Given the description of an element on the screen output the (x, y) to click on. 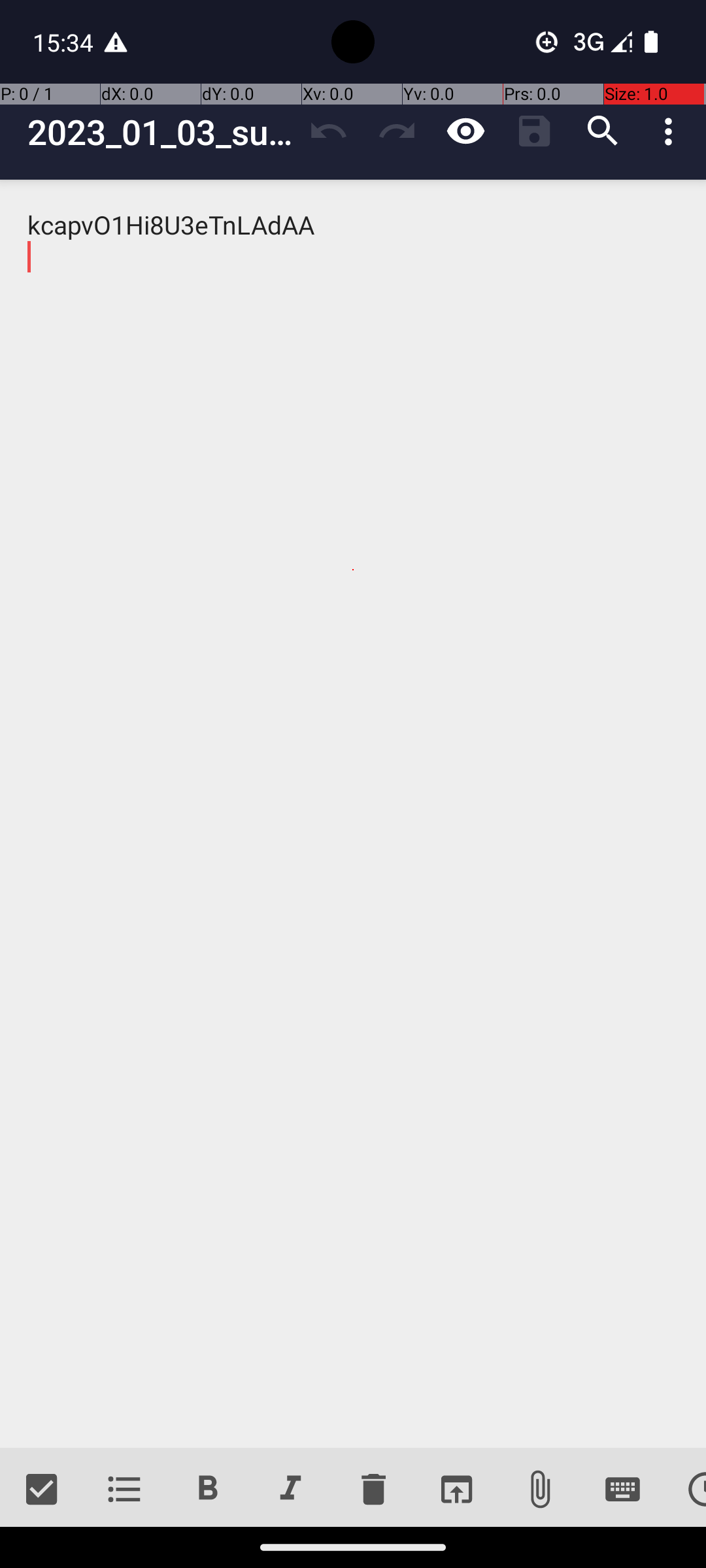
2023_01_03_summer_vacation_plans Element type: android.widget.TextView (160, 131)
kcapvO1Hi8U3eTnLAdAA
 Element type: android.widget.EditText (353, 813)
